Given the description of an element on the screen output the (x, y) to click on. 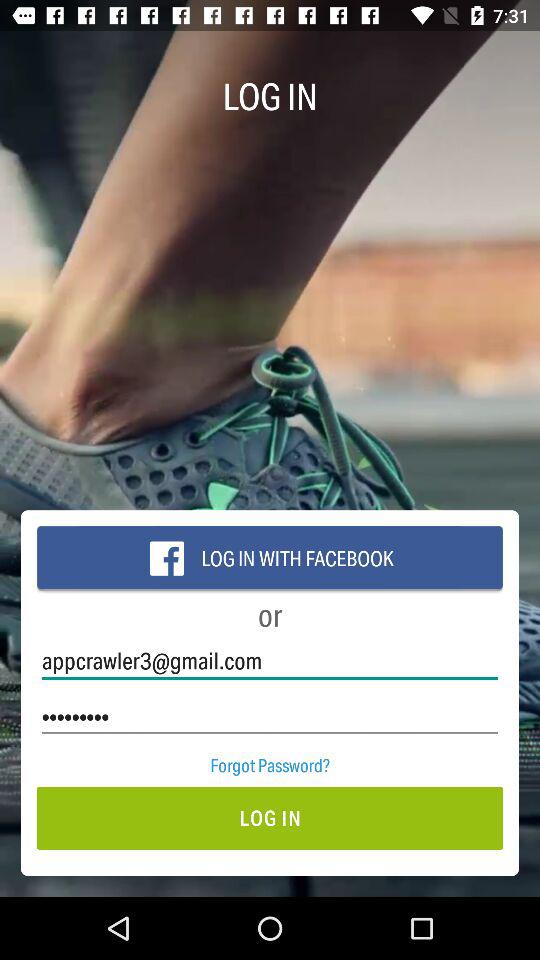
turn on item below the appcrawler3@gmail.com icon (269, 715)
